Given the description of an element on the screen output the (x, y) to click on. 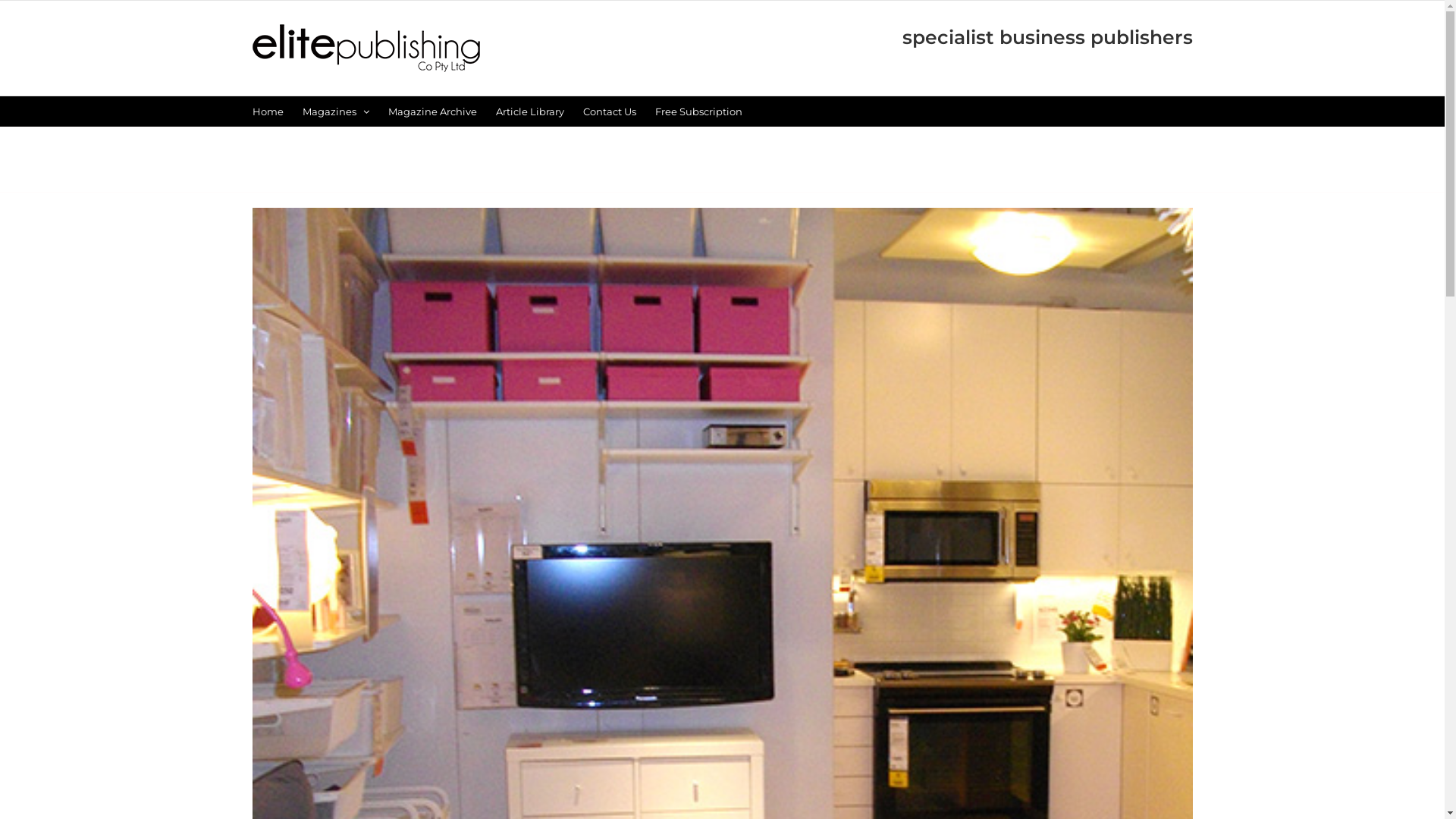
Article Library Element type: text (529, 111)
Contact Us Element type: text (608, 111)
Home Element type: text (266, 111)
Magazine Archive Element type: text (432, 111)
Magazines Element type: text (334, 111)
Free Subscription Element type: text (698, 111)
